Given the description of an element on the screen output the (x, y) to click on. 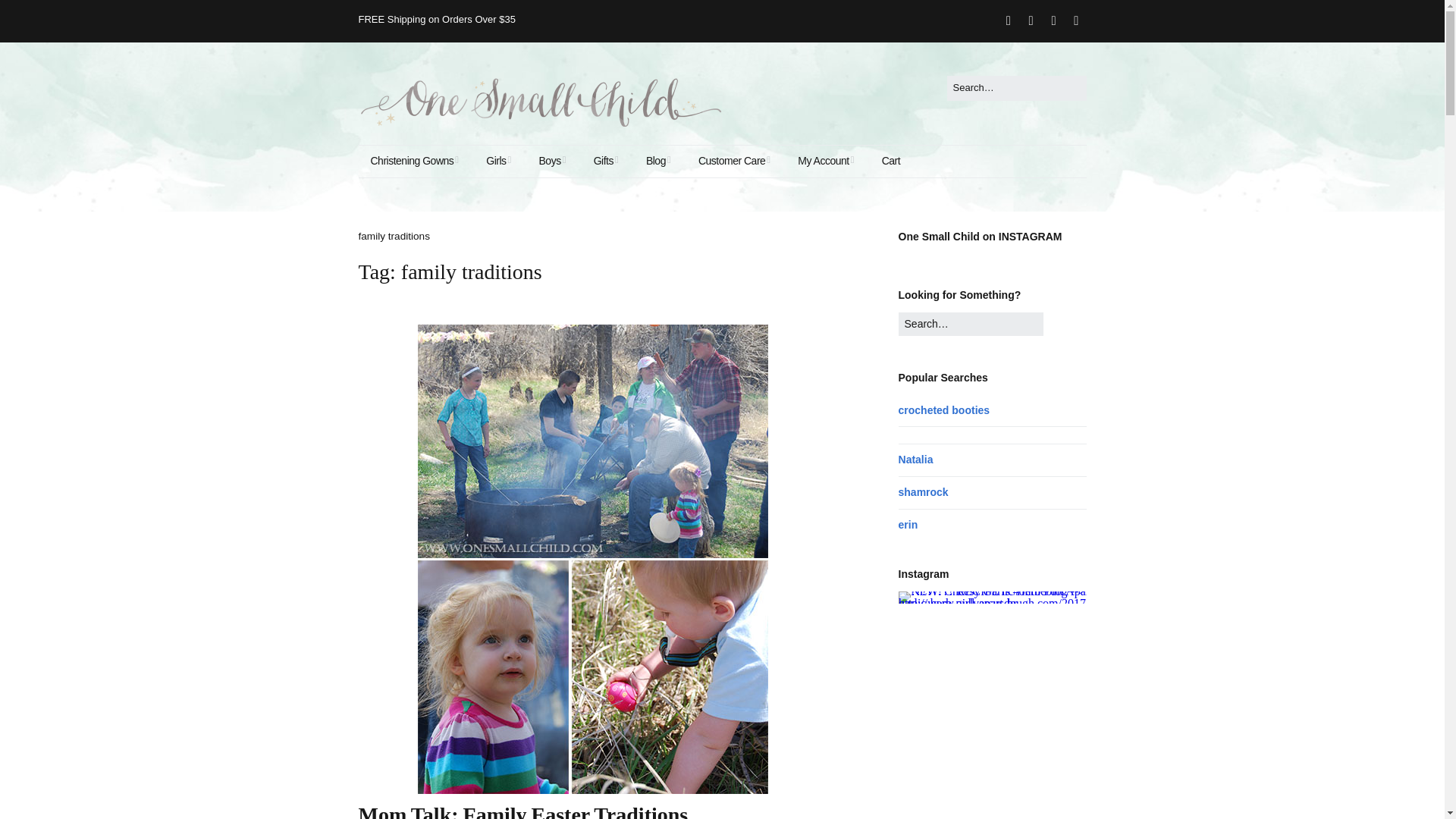
Christening Gowns (414, 161)
Press Enter to submit your search (1016, 88)
Press Enter to submit your search (970, 324)
Gifts (605, 161)
Girls (498, 161)
Search (34, 15)
Boys (552, 161)
